Given the description of an element on the screen output the (x, y) to click on. 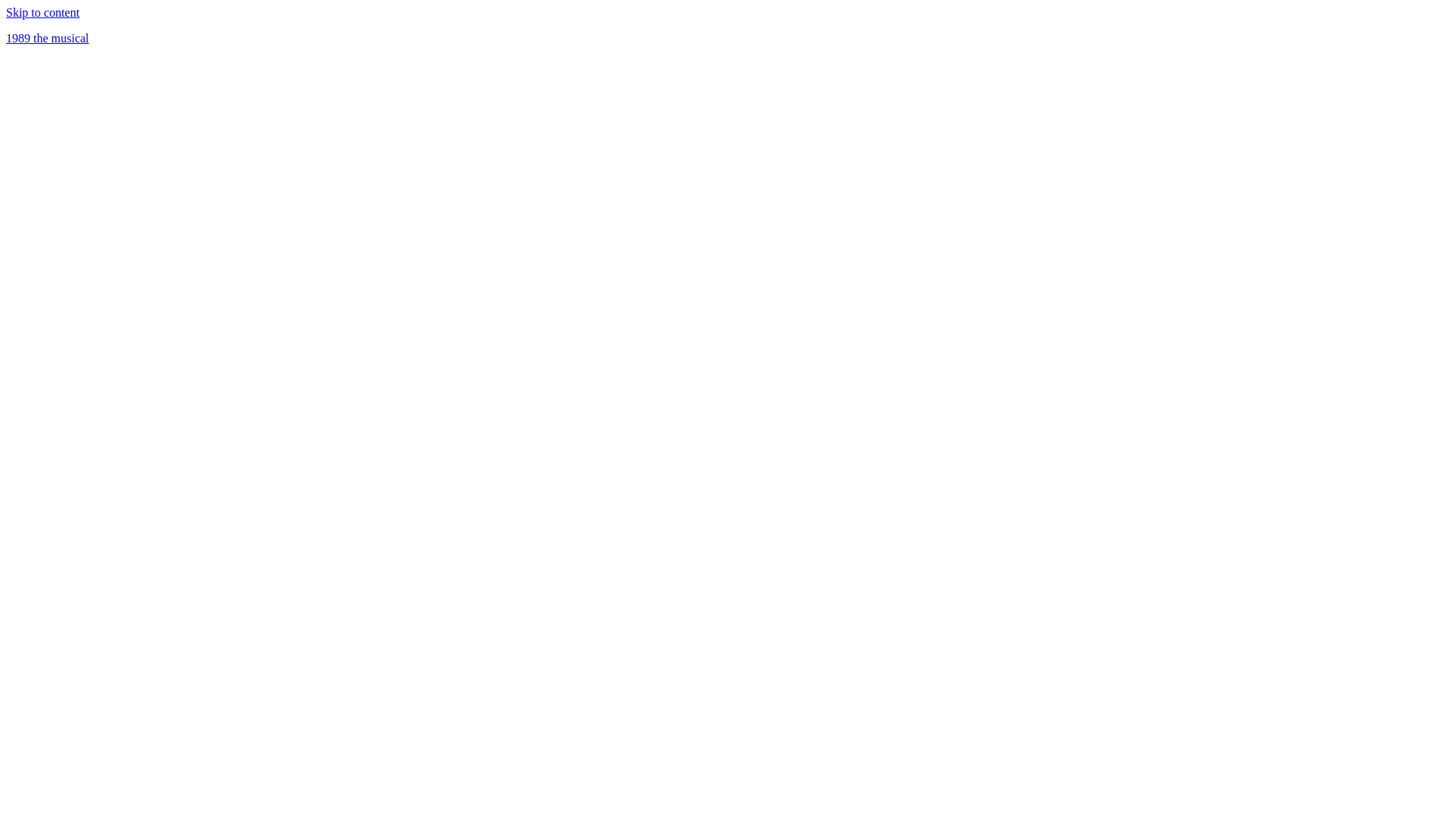
1989 the musical Element type: text (47, 37)
Skip to content Element type: text (42, 12)
